Given the description of an element on the screen output the (x, y) to click on. 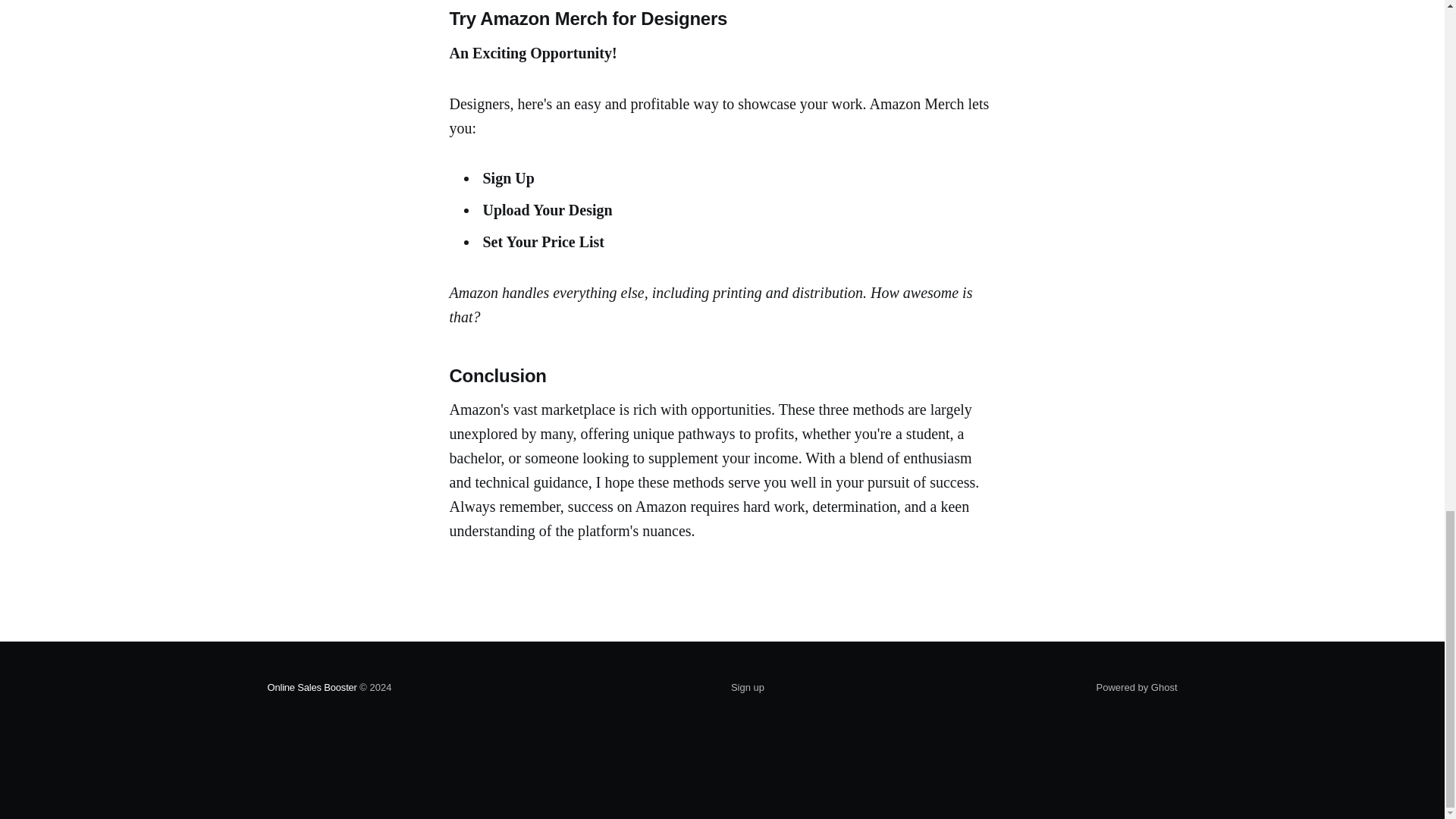
Sign up (747, 687)
Online Sales Booster (311, 686)
Powered by Ghost (1136, 686)
